Given the description of an element on the screen output the (x, y) to click on. 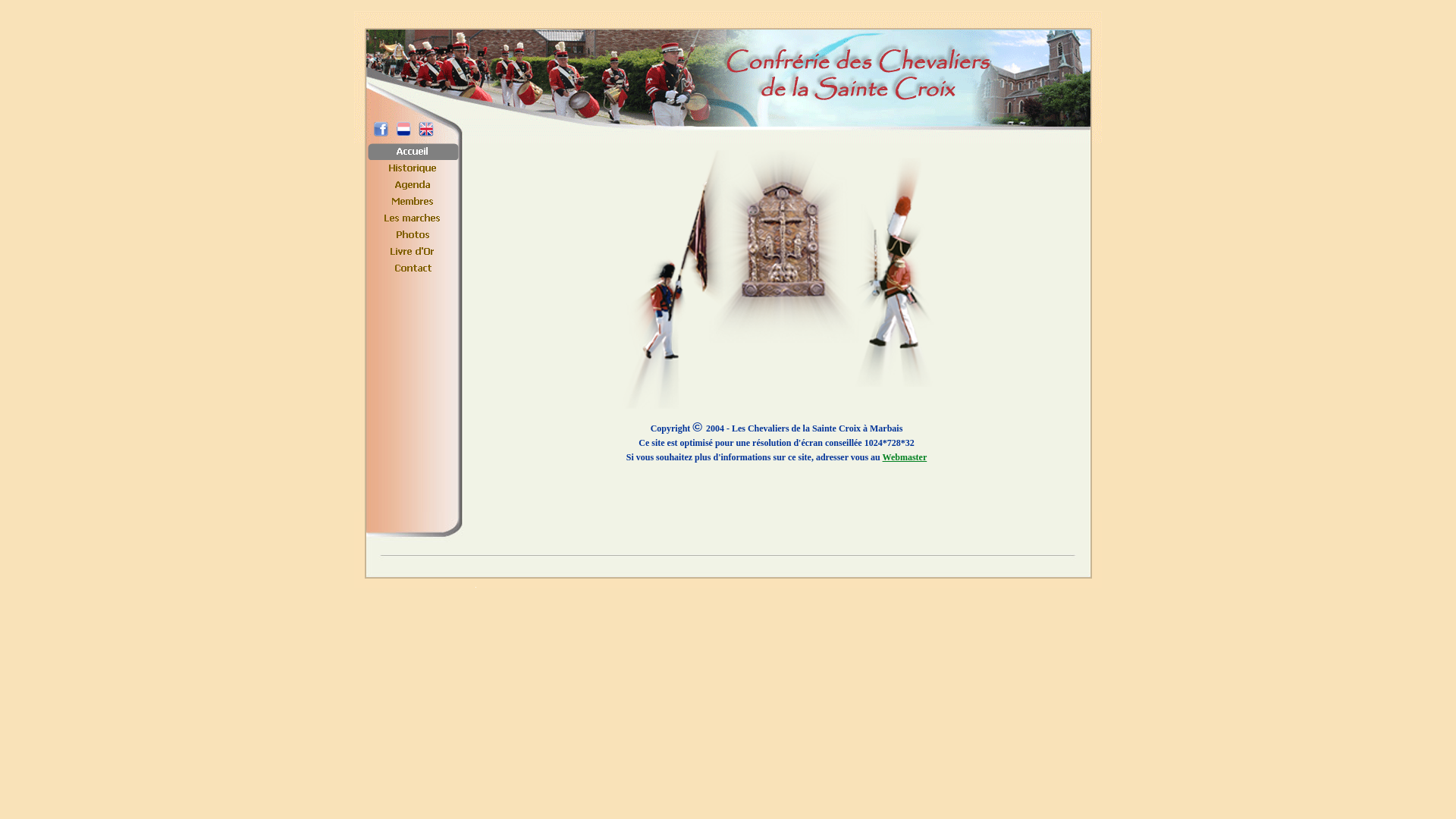
Webmaster Element type: text (904, 456)
